Given the description of an element on the screen output the (x, y) to click on. 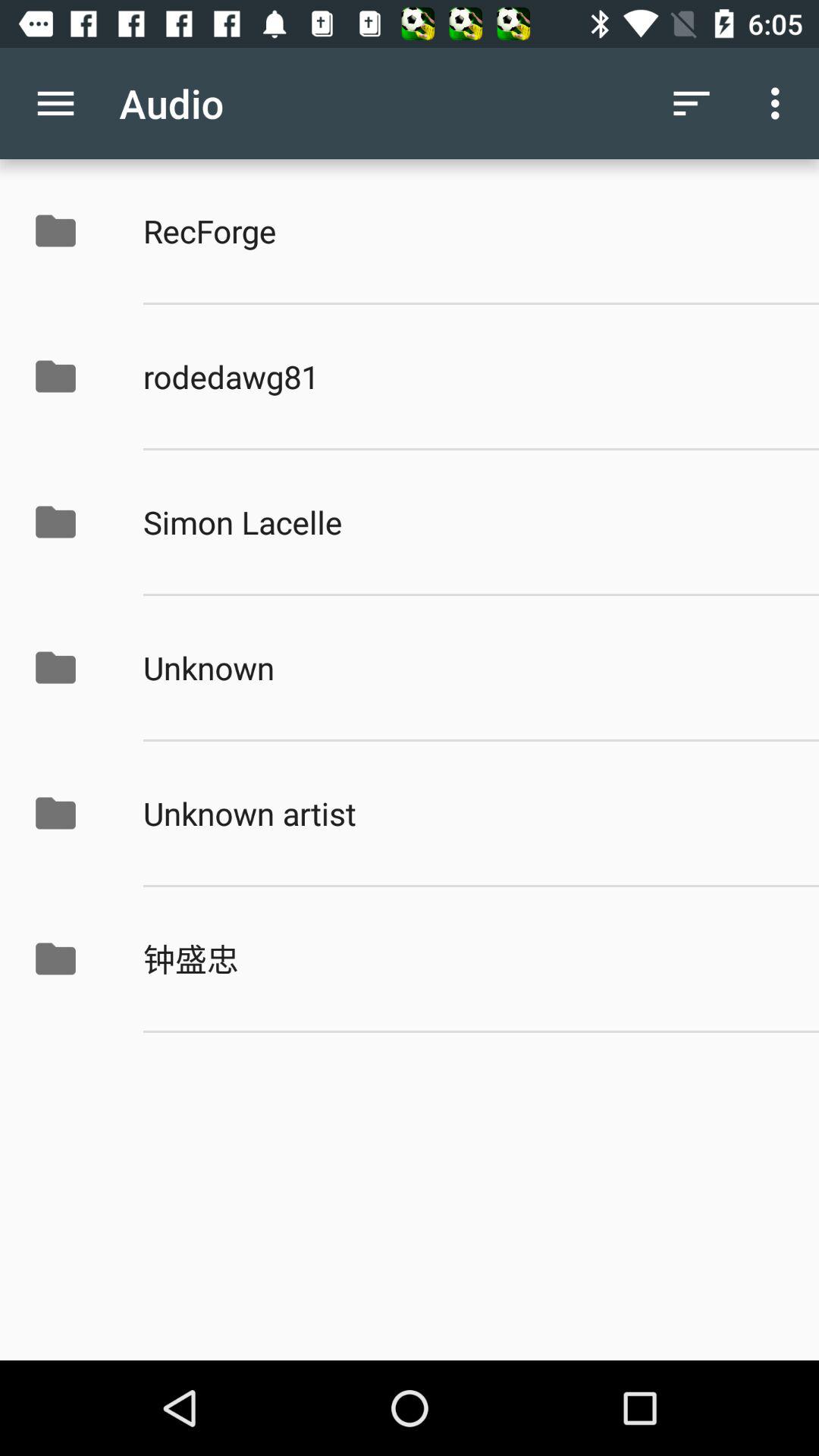
launch the simon lacelle item (465, 521)
